Given the description of an element on the screen output the (x, y) to click on. 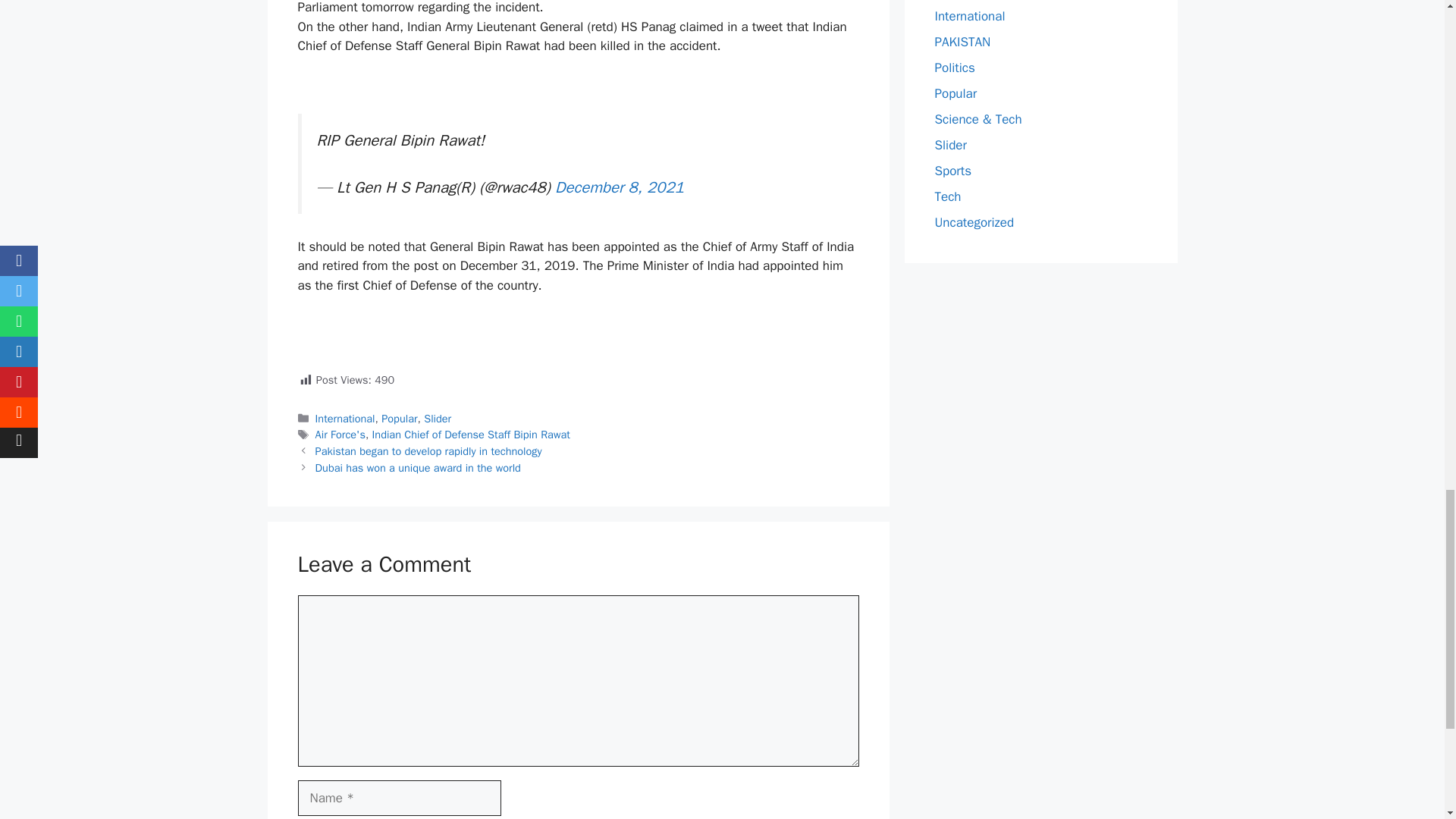
International (345, 418)
Air Force's (340, 434)
Pakistan began to develop rapidly in technology (428, 450)
Slider (437, 418)
Popular (398, 418)
Indian Chief of Defense Staff Bipin Rawat (471, 434)
Dubai has won a unique award in the world (418, 468)
December 8, 2021 (619, 187)
